Given the description of an element on the screen output the (x, y) to click on. 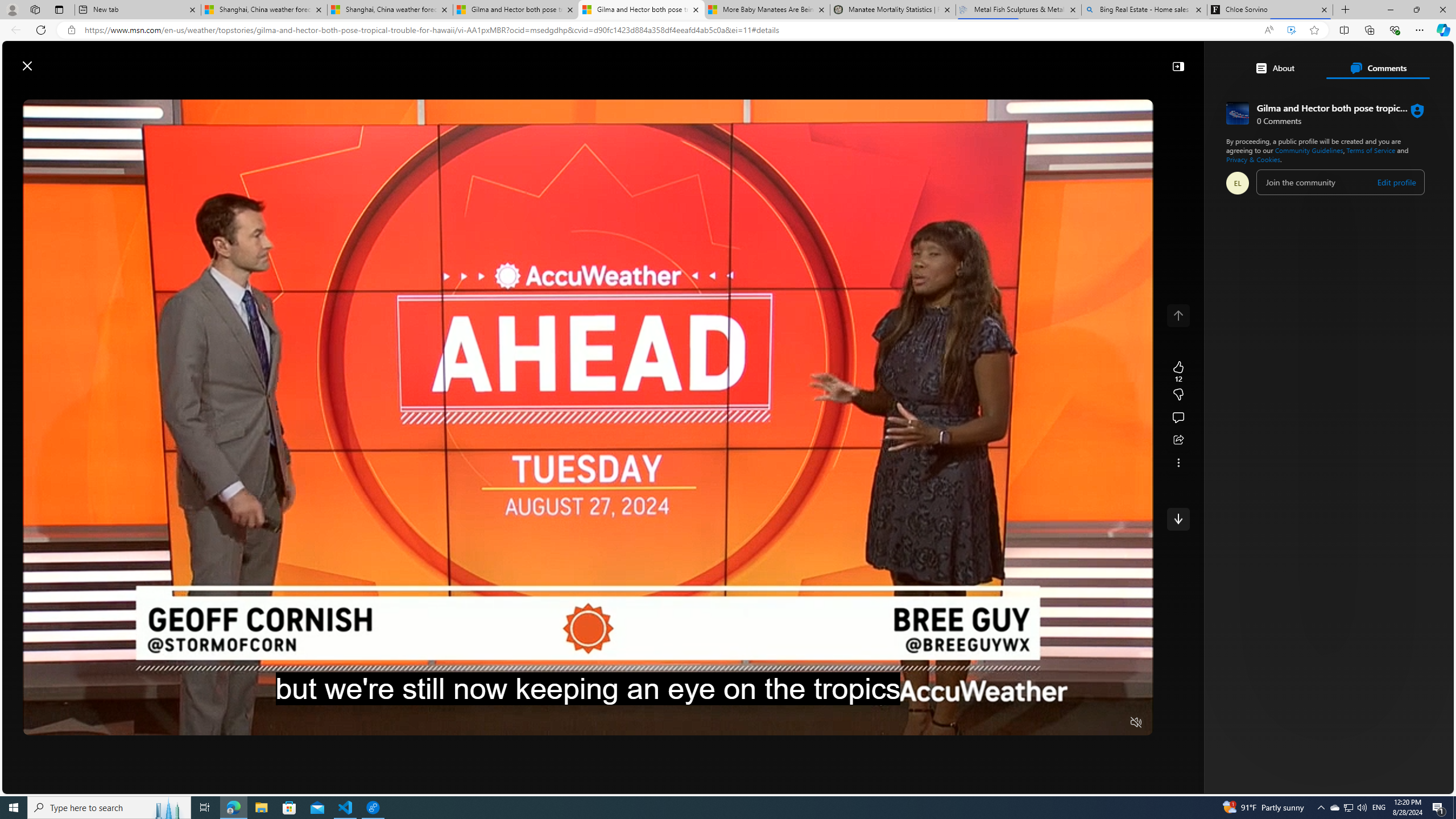
Enter your search term (730, 59)
Pause (39, 723)
Income For Life Trading System (1232, 219)
Seek Forward (85, 723)
Edit profile (1396, 181)
